Given the description of an element on the screen output the (x, y) to click on. 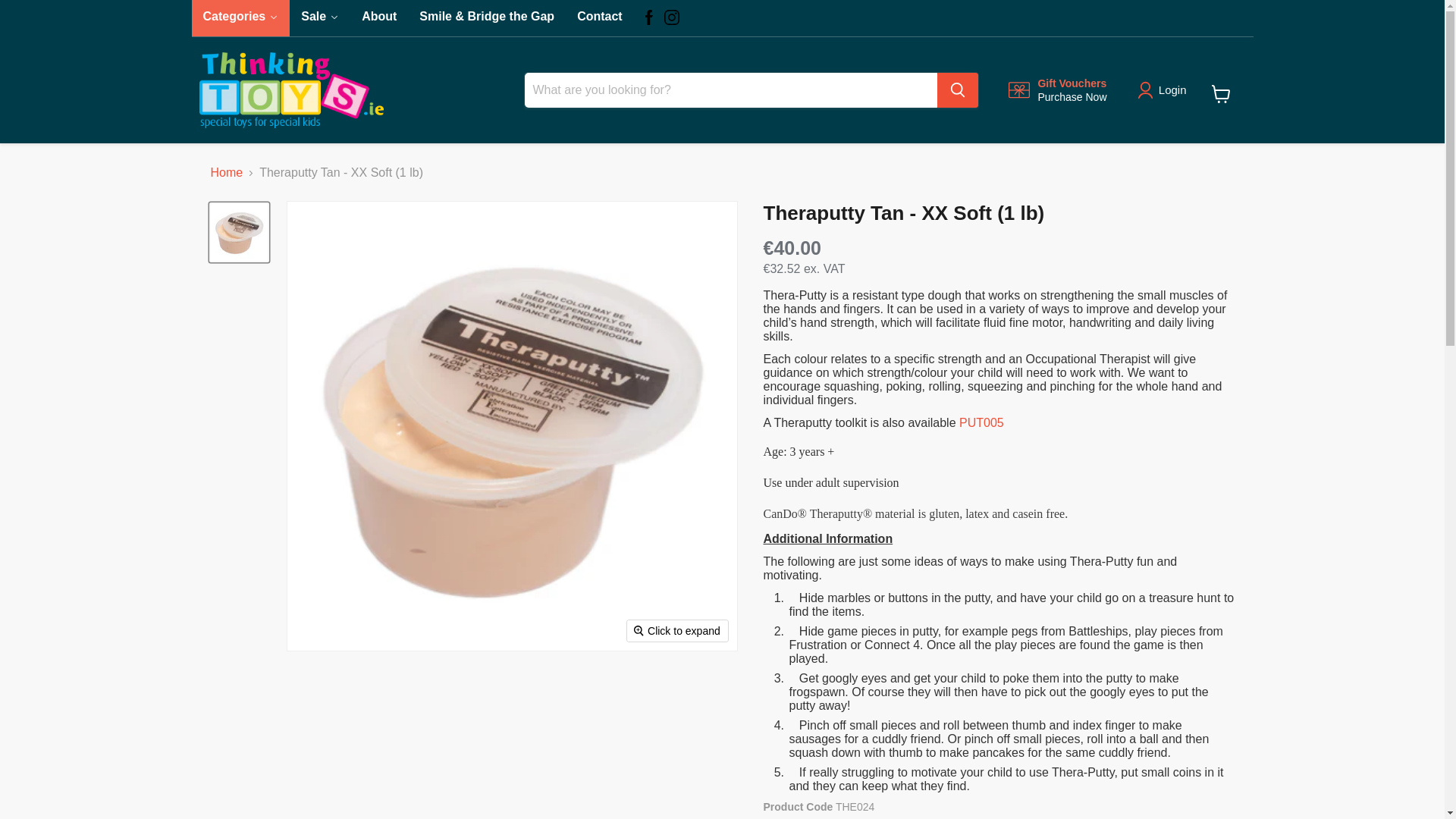
Categories (239, 18)
Sale (1057, 90)
Categories (319, 18)
Home (239, 18)
View cart (227, 172)
Contact (1221, 93)
Login (599, 18)
Contact (1172, 90)
Sale (599, 18)
About (319, 18)
About (378, 18)
Click to expand (378, 18)
